Given the description of an element on the screen output the (x, y) to click on. 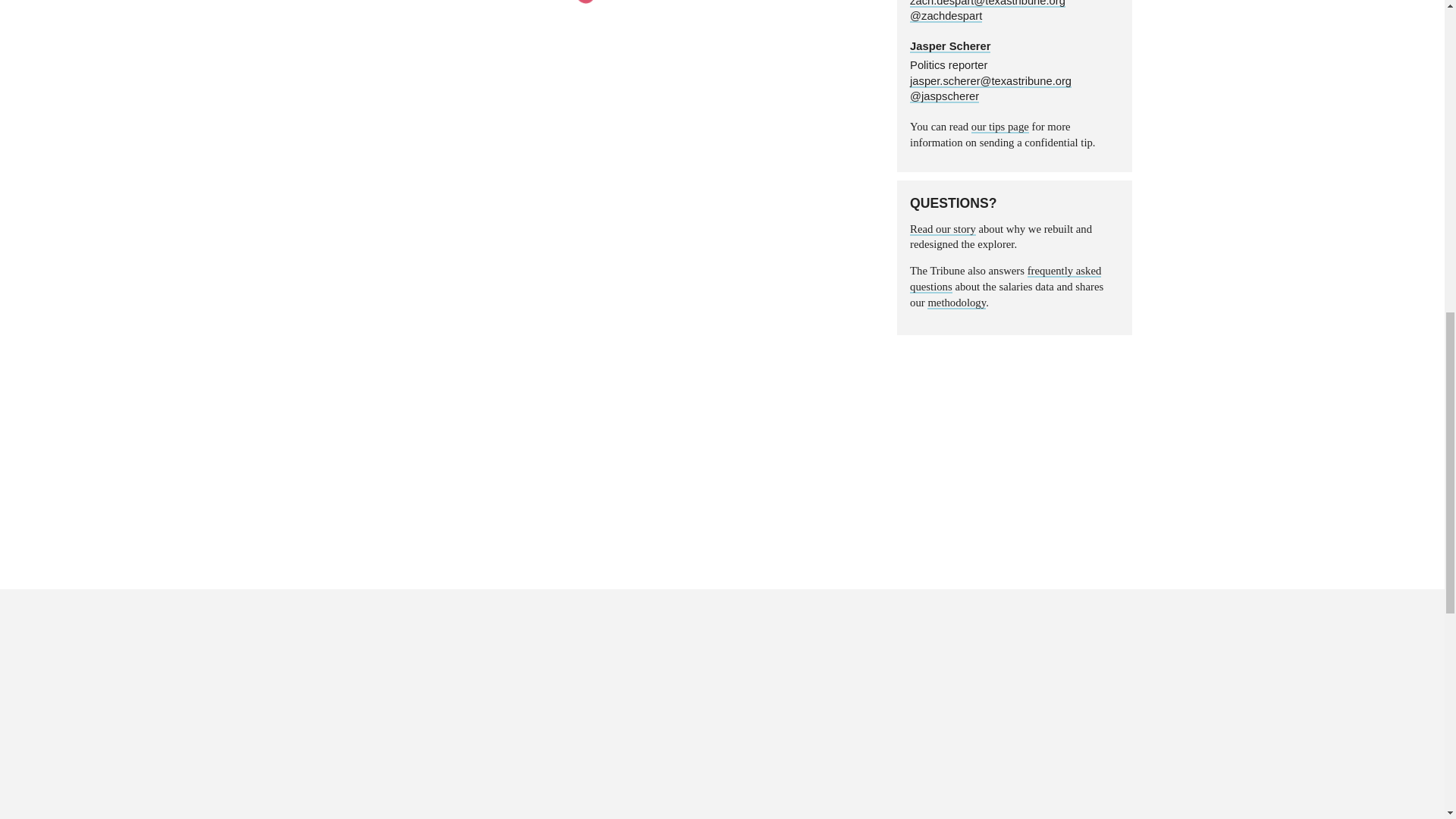
Jasper Scherer (950, 46)
our tips page (1000, 126)
Read our story (942, 228)
frequently asked questions (1005, 278)
